Given the description of an element on the screen output the (x, y) to click on. 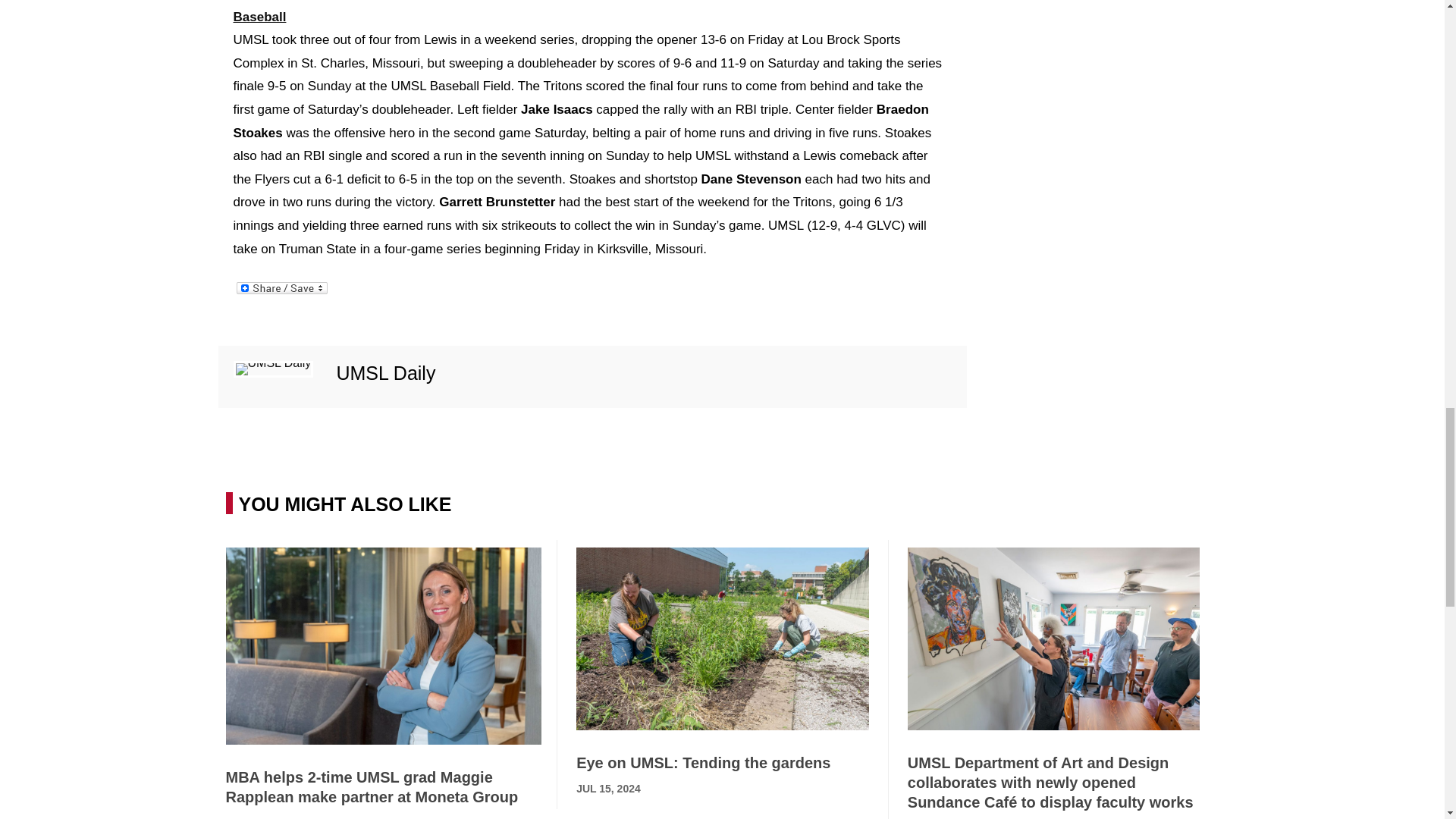
Baseball (259, 16)
